Given the description of an element on the screen output the (x, y) to click on. 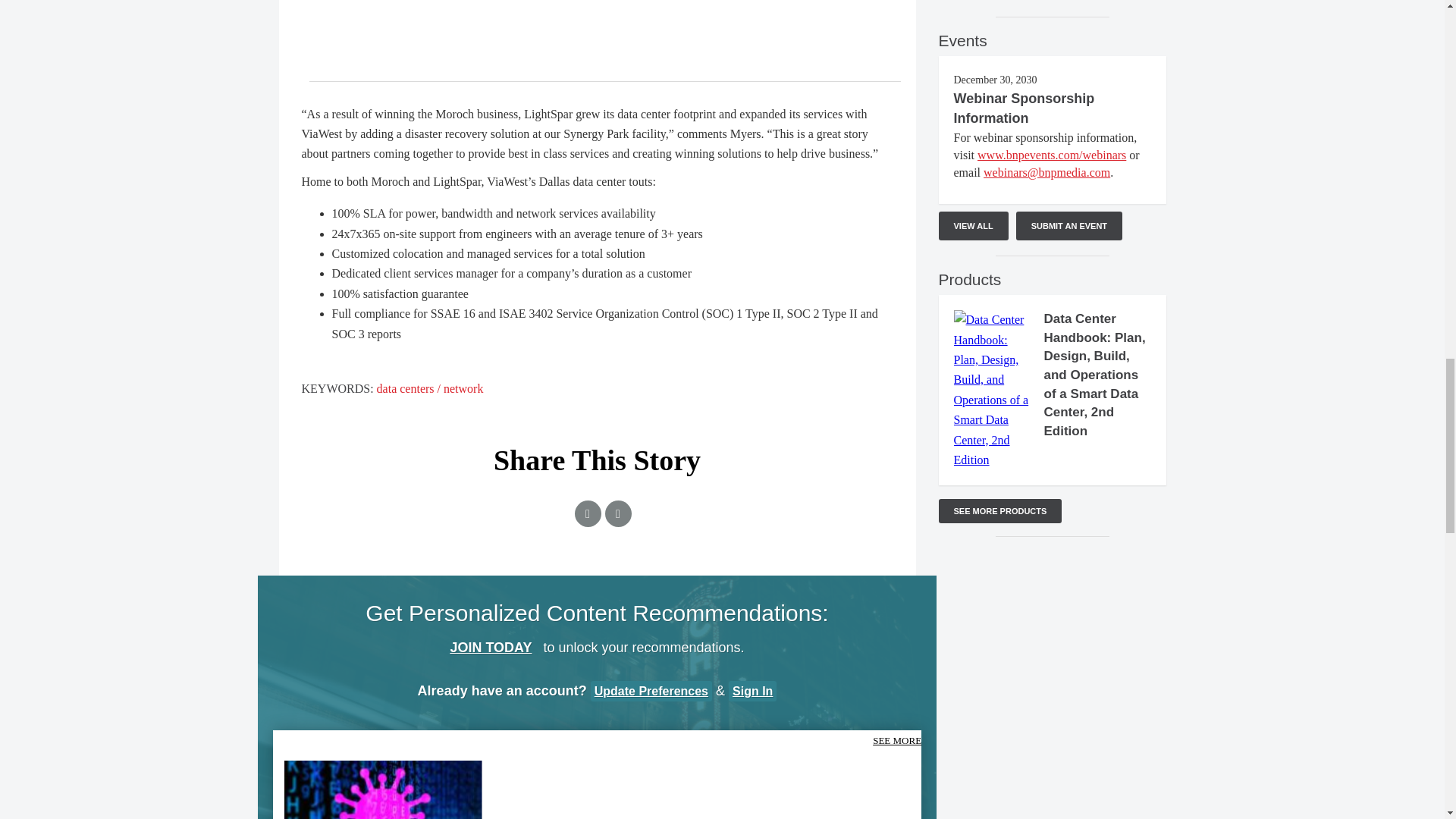
Webinar Sponsorship Information (1023, 108)
Fire suppression technologies (596, 768)
Liquid cooling main image (810, 768)
Virus main (382, 787)
